Given the description of an element on the screen output the (x, y) to click on. 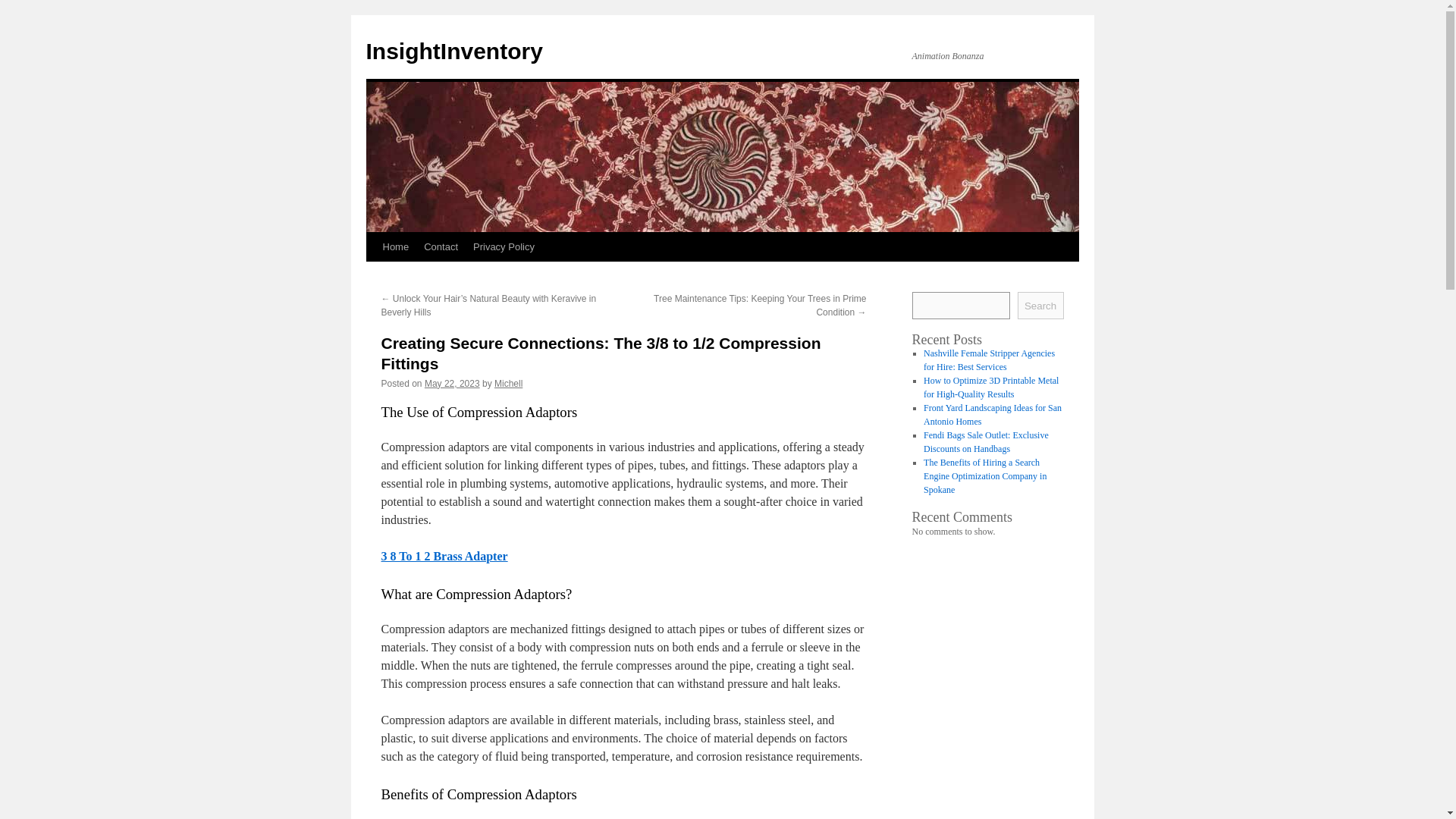
3 8 To 1 2 Brass Adapter (443, 555)
Nashville Female Stripper Agencies for Hire: Best Services (988, 360)
Contact (440, 246)
Fendi Bags Sale Outlet: Exclusive Discounts on Handbags (985, 441)
Privacy Policy (503, 246)
Michell (508, 383)
May 22, 2023 (452, 383)
Search (1040, 305)
InsightInventory (453, 50)
How to Optimize 3D Printable Metal for High-Quality Results (990, 387)
6:46 am (452, 383)
Front Yard Landscaping Ideas for San Antonio Homes (992, 414)
Home (395, 246)
View all posts by Michell (508, 383)
